Given the description of an element on the screen output the (x, y) to click on. 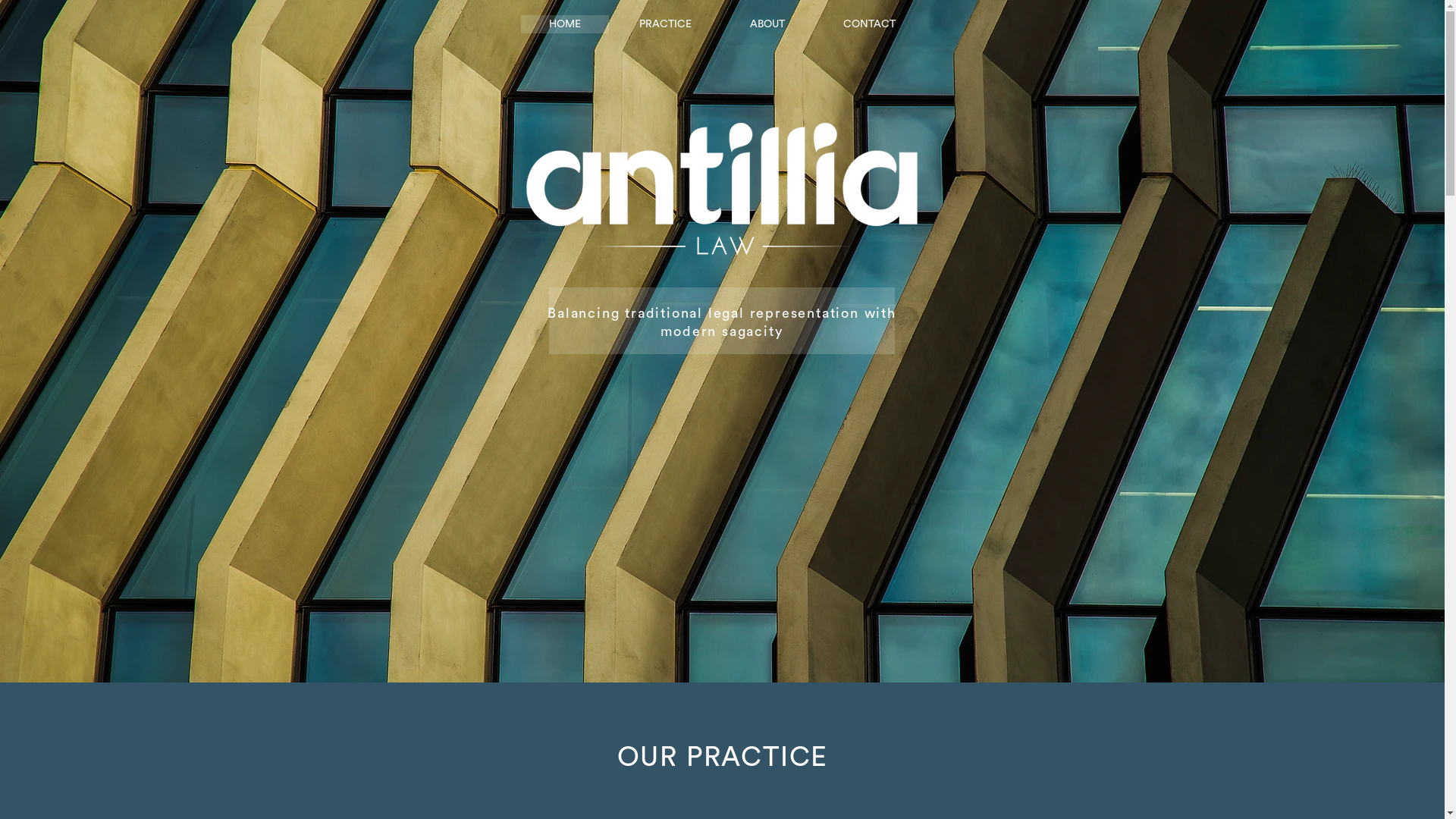
ABOUT Element type: text (766, 24)
PRACTICE Element type: text (664, 24)
HOME Element type: text (564, 24)
CONTACT Element type: text (869, 24)
